Given the description of an element on the screen output the (x, y) to click on. 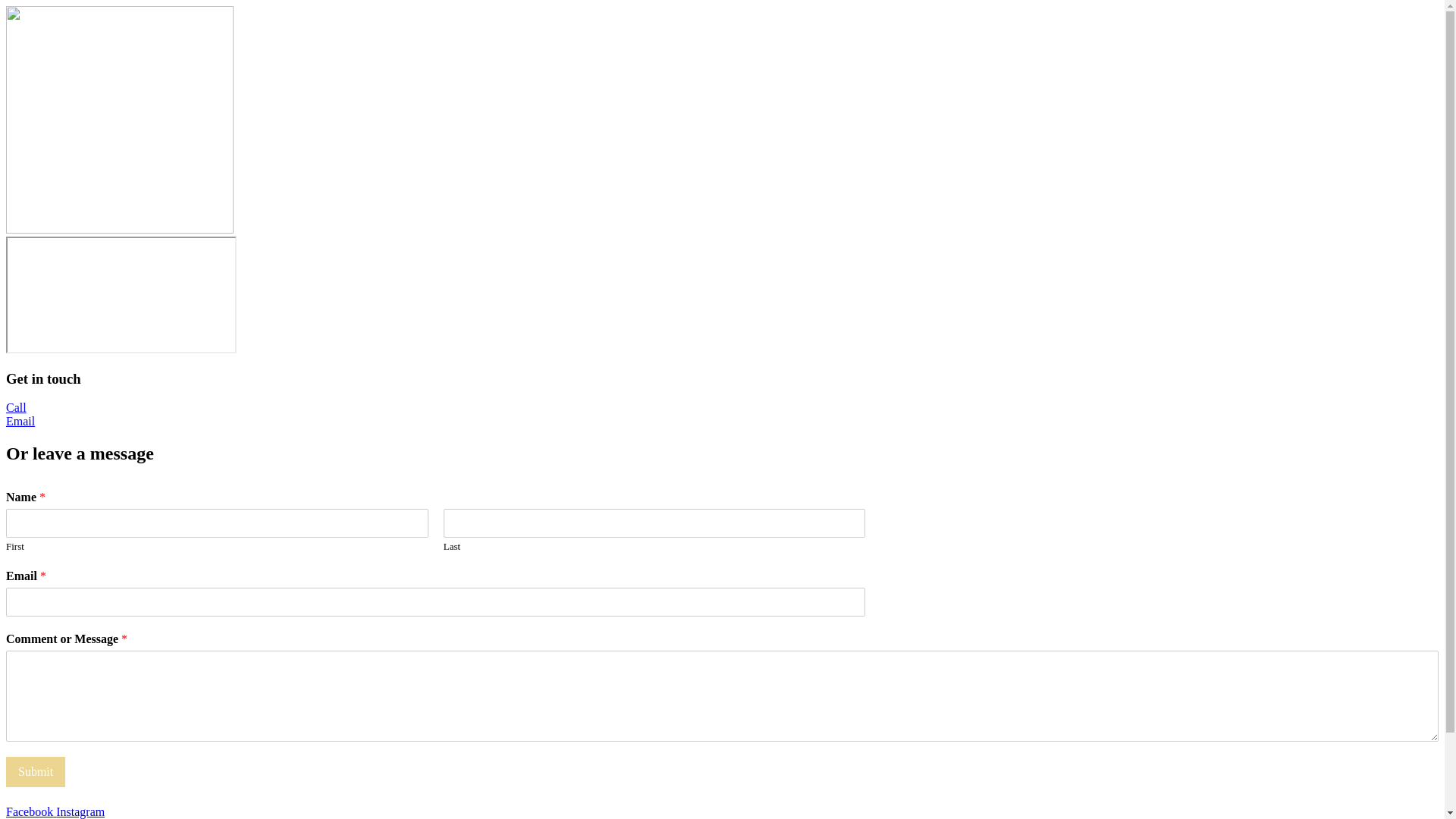
vimeo Video Player Element type: hover (121, 294)
Facebook Element type: text (31, 811)
Email Element type: text (20, 420)
Call Element type: text (16, 407)
Submit Element type: text (35, 771)
Instagram Element type: text (80, 811)
